Given the description of an element on the screen output the (x, y) to click on. 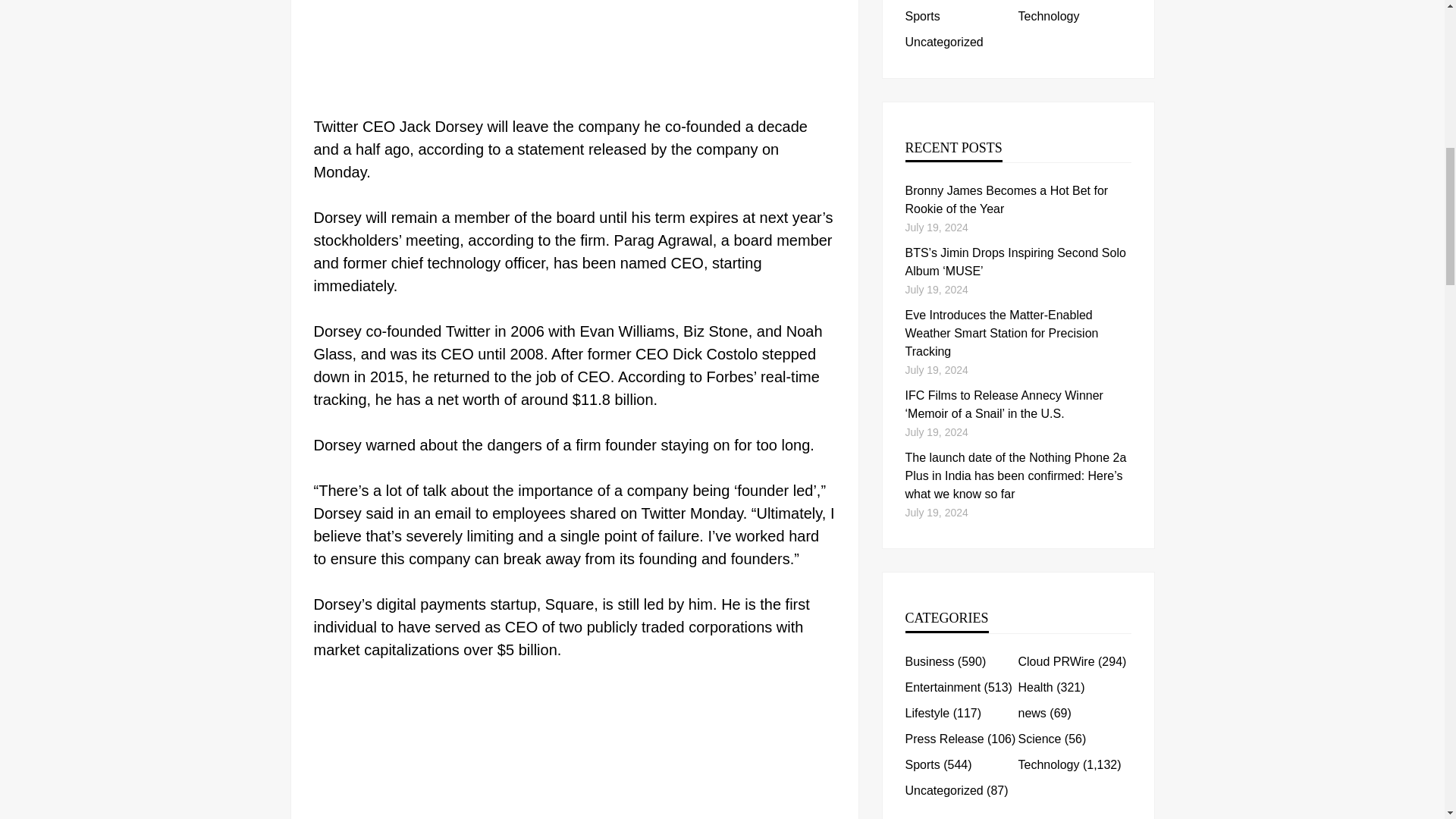
Advertisement (574, 53)
Advertisement (574, 748)
